Given the description of an element on the screen output the (x, y) to click on. 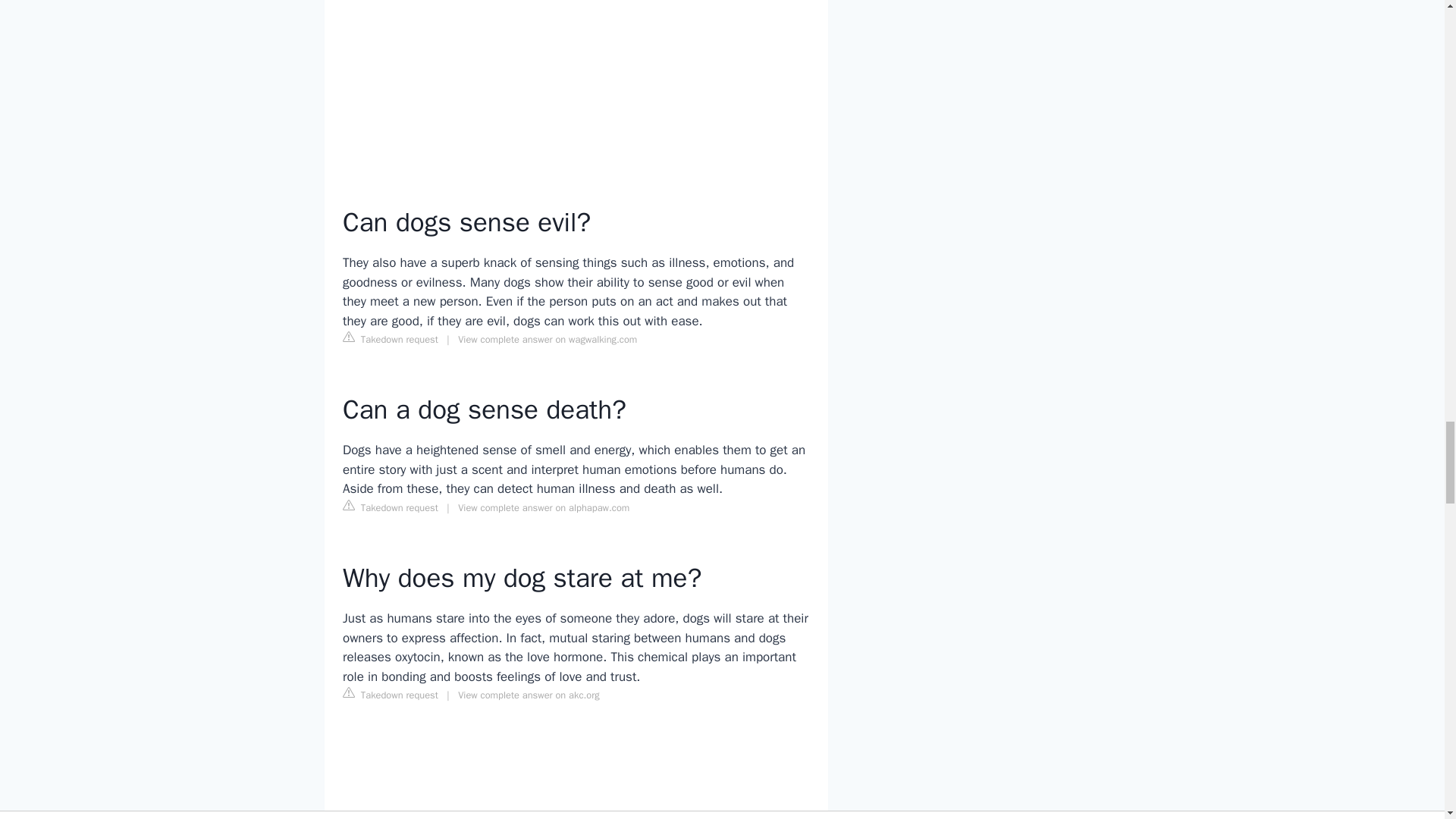
View complete answer on wagwalking.com (547, 339)
Takedown request (390, 506)
Takedown request (390, 694)
View complete answer on akc.org (528, 695)
Takedown request (390, 338)
View complete answer on alphapaw.com (543, 508)
